Given the description of an element on the screen output the (x, y) to click on. 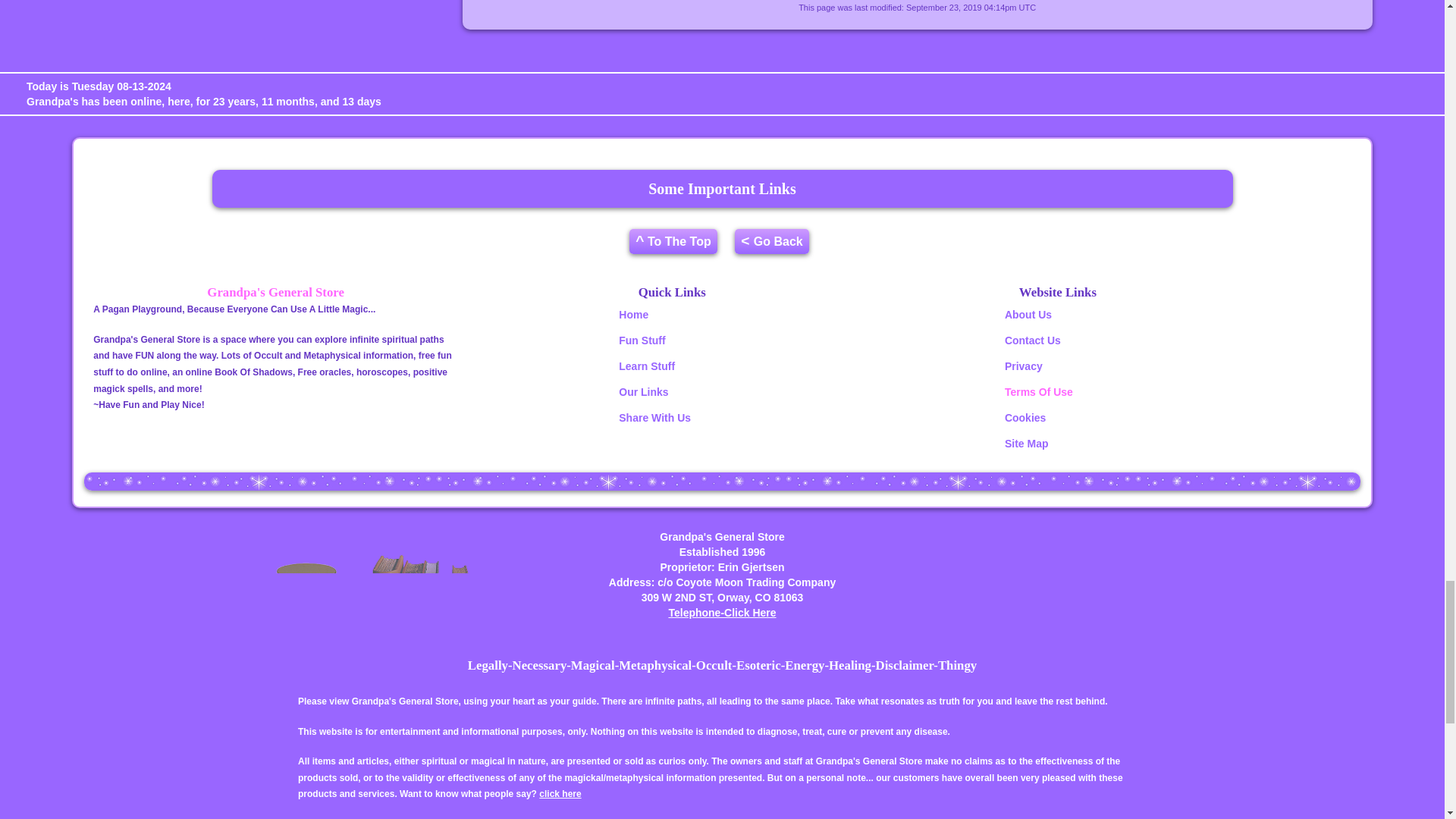
About Your Privacy (1023, 366)
Learn Stuff (646, 366)
Our Links (643, 391)
Cookies (1024, 417)
click here (559, 793)
About Our Cookie Policy (1024, 417)
Site Map (1026, 443)
Go Up To The Top Of The Page (672, 241)
Privacy (1023, 366)
Free Fun Stuff To Do Online Stuff (641, 340)
